Given the description of an element on the screen output the (x, y) to click on. 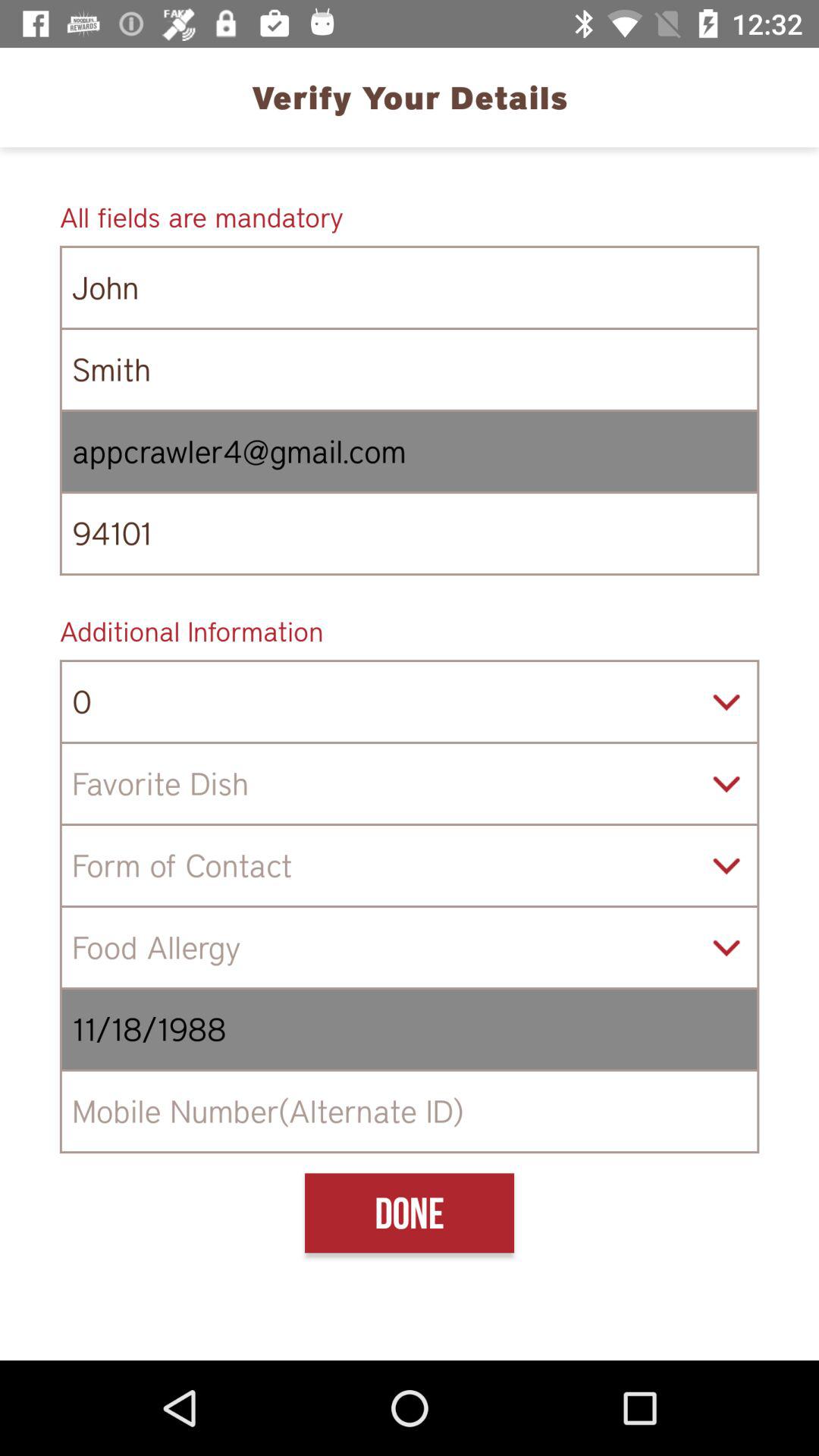
flip to 11/18/1988 icon (409, 1029)
